Given the description of an element on the screen output the (x, y) to click on. 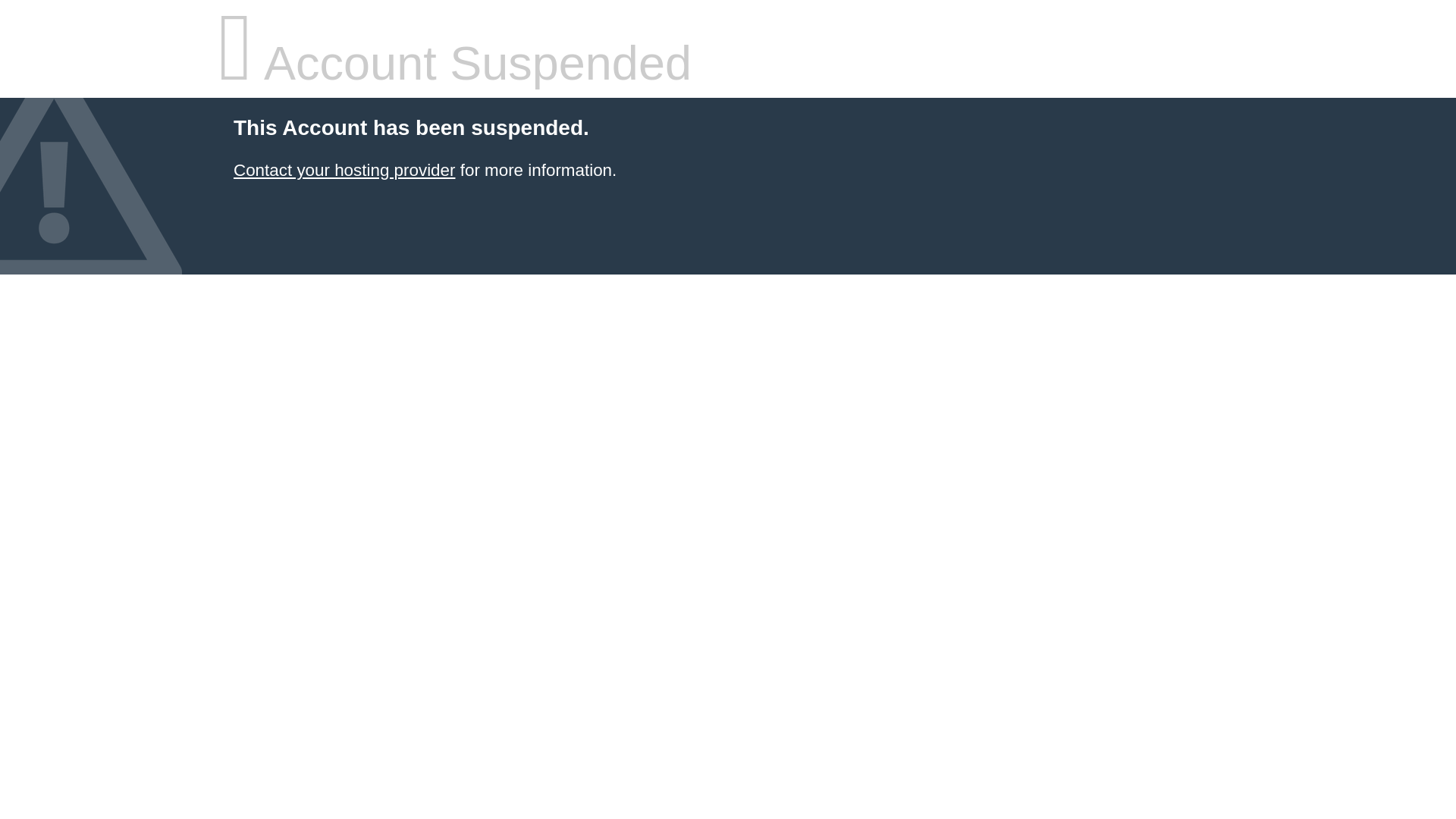
Contact your hosting provider (343, 169)
